Given the description of an element on the screen output the (x, y) to click on. 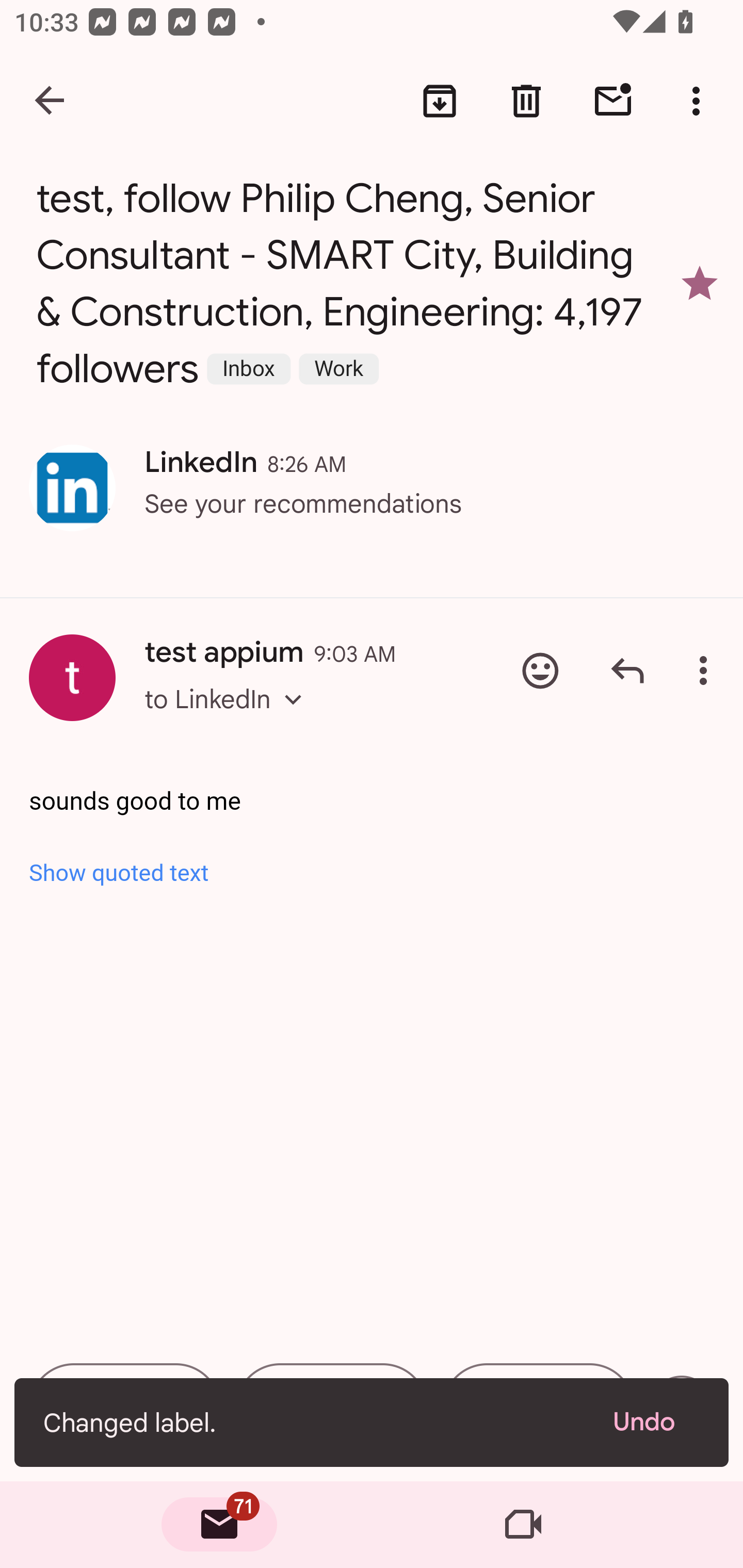
Navigate up (50, 101)
Archive (439, 101)
Delete (525, 101)
Mark unread (612, 101)
More options (699, 101)
Remove star (699, 283)
Show contact information for LinkedIn (71, 488)
Add emoji reaction (540, 670)
Reply (626, 670)
More options (706, 670)
Show contact information for test appium (71, 678)
to LinkedIn (229, 717)
Show quoted text (372, 873)
Reply (124, 1407)
Undo (655, 1422)
Meet (523, 1524)
